Given the description of an element on the screen output the (x, y) to click on. 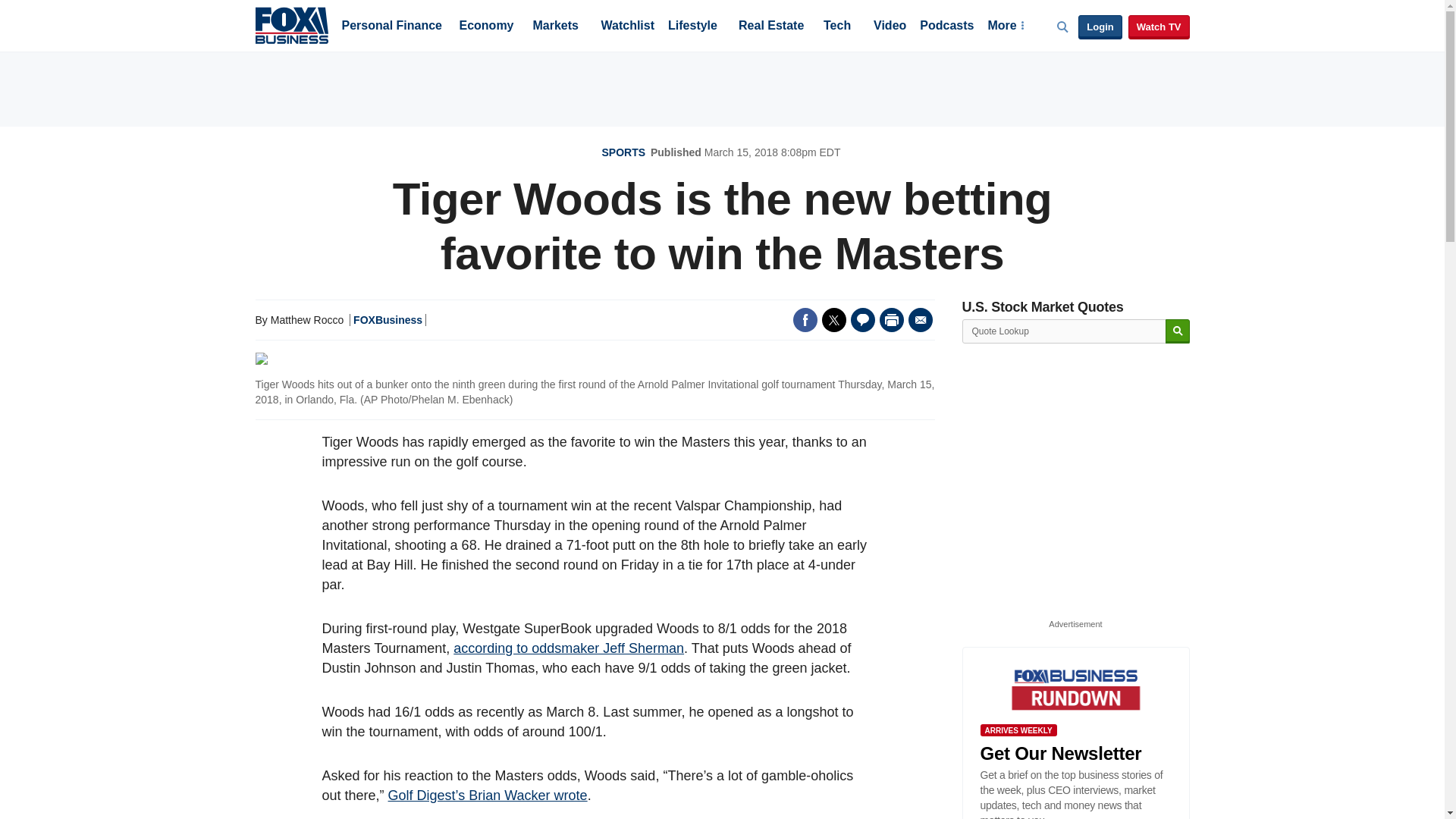
Watchlist (626, 27)
Real Estate (770, 27)
Search (1176, 331)
Tech (837, 27)
Watch TV (1158, 27)
More (1005, 27)
Economy (486, 27)
Search (1176, 331)
Personal Finance (391, 27)
Fox Business (290, 24)
